Given the description of an element on the screen output the (x, y) to click on. 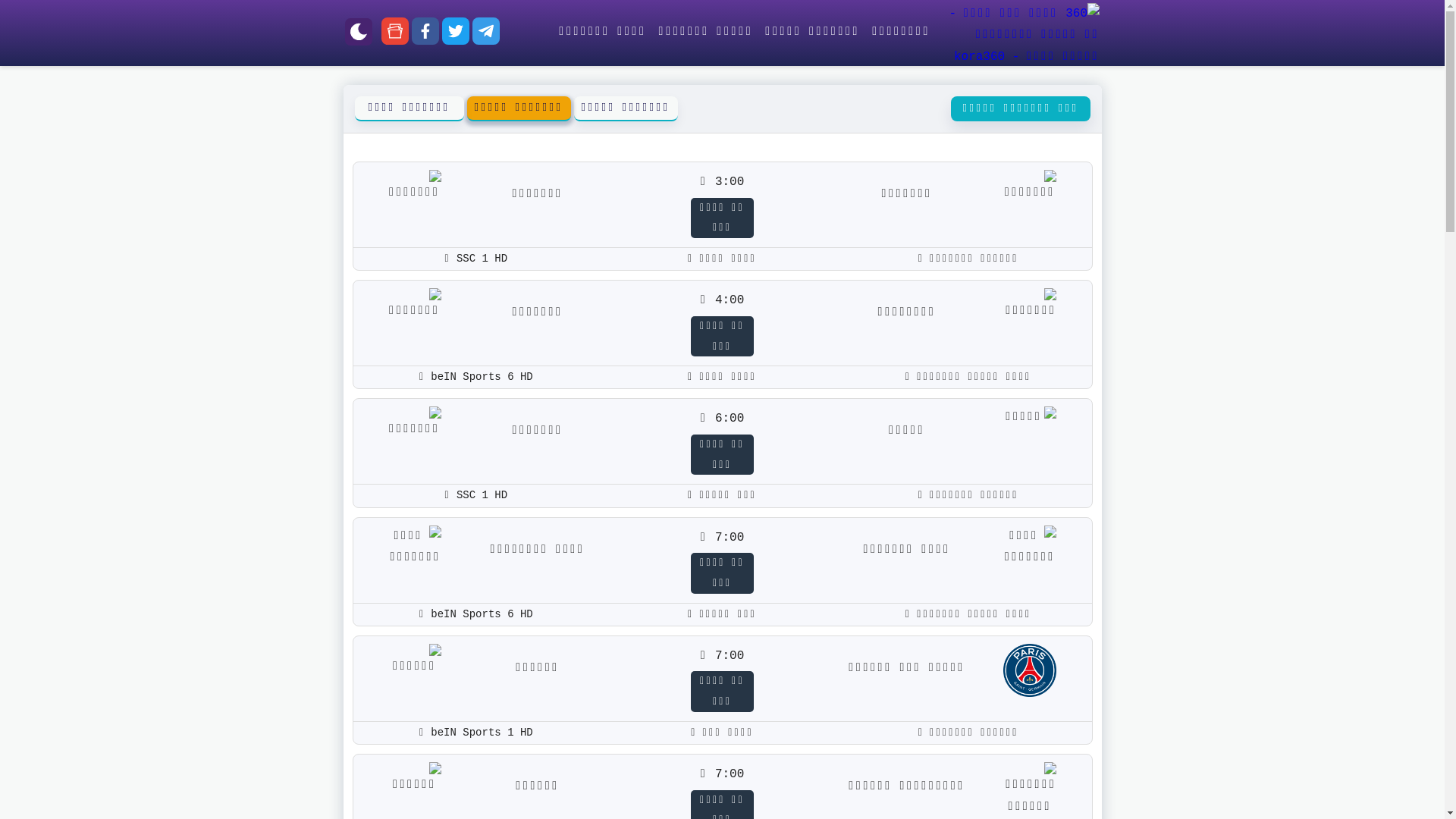
google-news Element type: hover (394, 35)
telegram Element type: hover (485, 35)
facebook Element type: hover (425, 35)
twitter Element type: hover (455, 35)
